Given the description of an element on the screen output the (x, y) to click on. 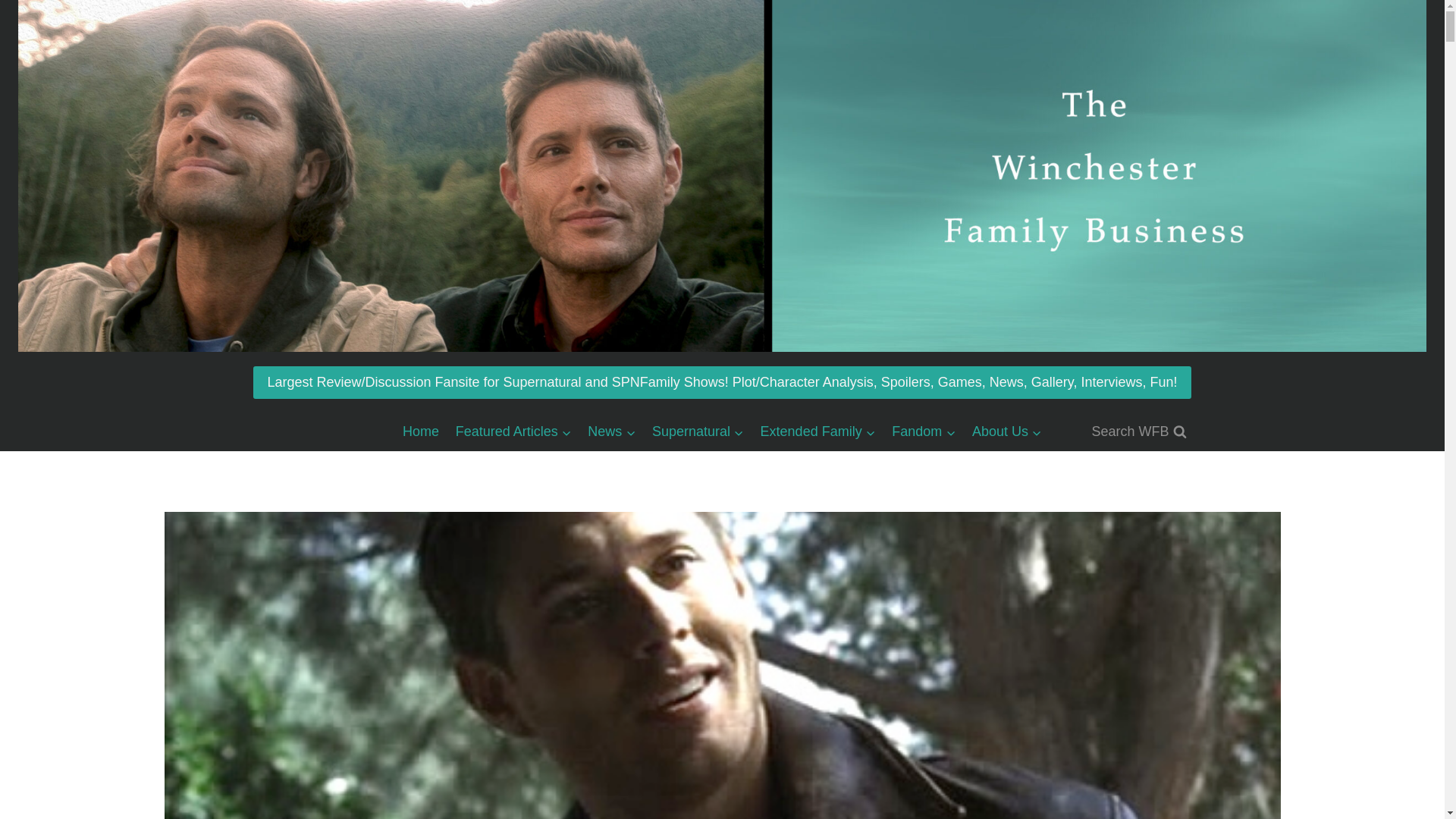
Search WFB (1138, 431)
News (612, 431)
About Us (1006, 431)
Fandom (923, 431)
Supernatural (697, 431)
Extended Family (817, 431)
Featured Articles (512, 431)
Home (420, 431)
